Given the description of an element on the screen output the (x, y) to click on. 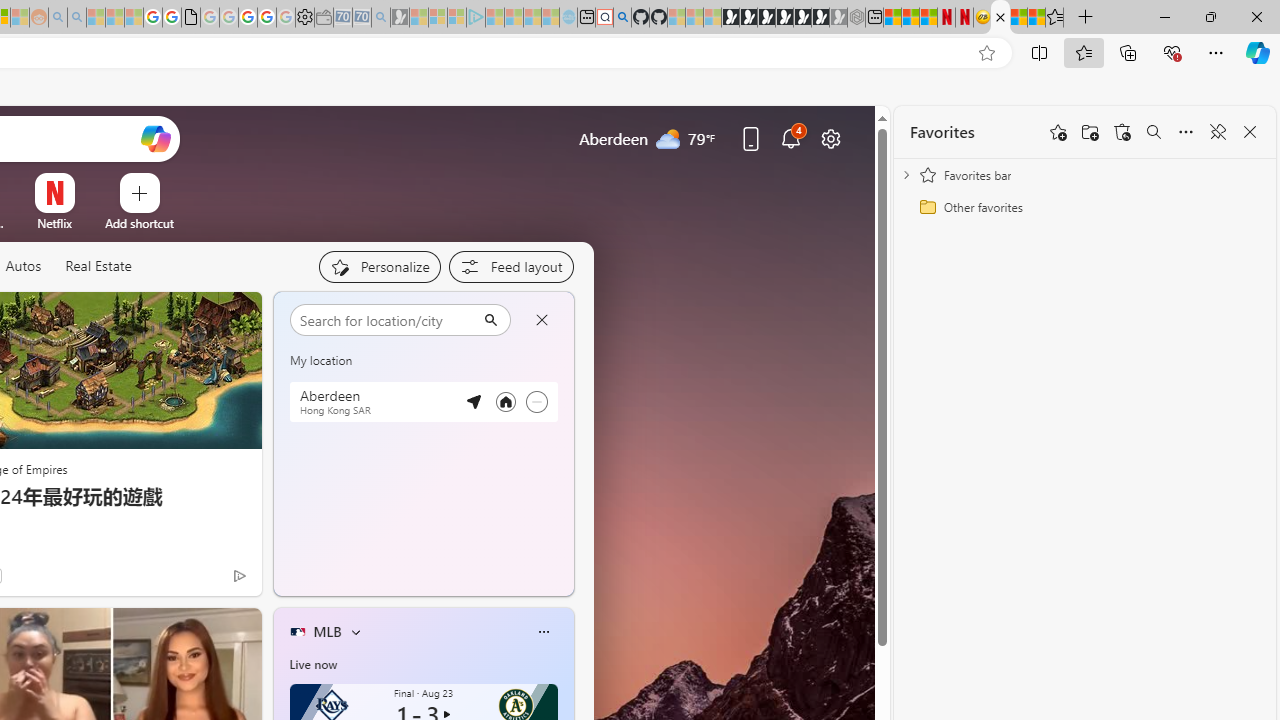
Set as your primary location (505, 401)
Add this page to favorites (1058, 132)
Restore deleted favorites (1122, 132)
Class: icon-img (543, 632)
More interests (355, 631)
Set as your primary location (505, 401)
